Given the description of an element on the screen output the (x, y) to click on. 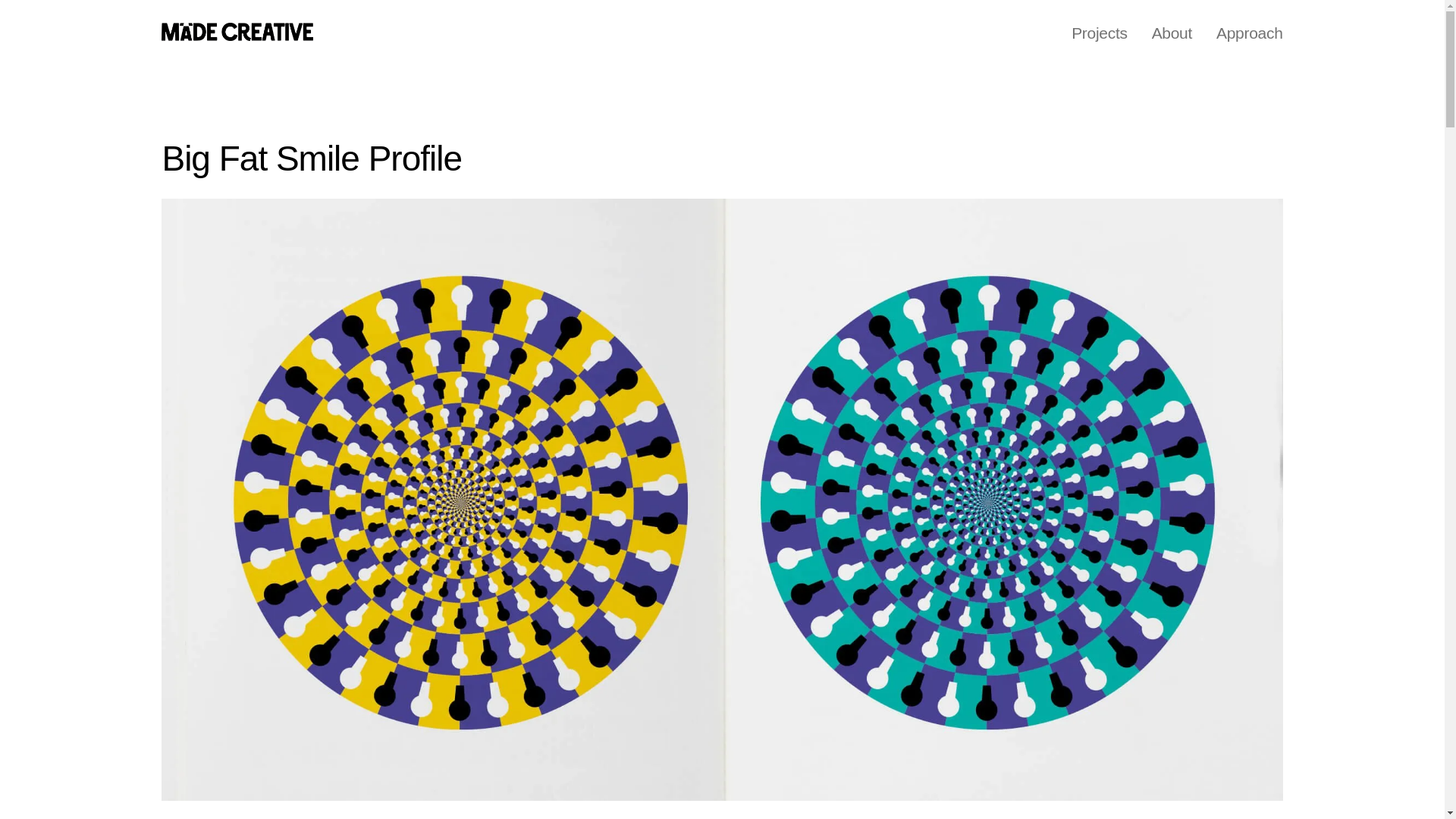
Projects Element type: text (1099, 32)
Approach Element type: text (1243, 32)
About Element type: text (1171, 32)
